Given the description of an element on the screen output the (x, y) to click on. 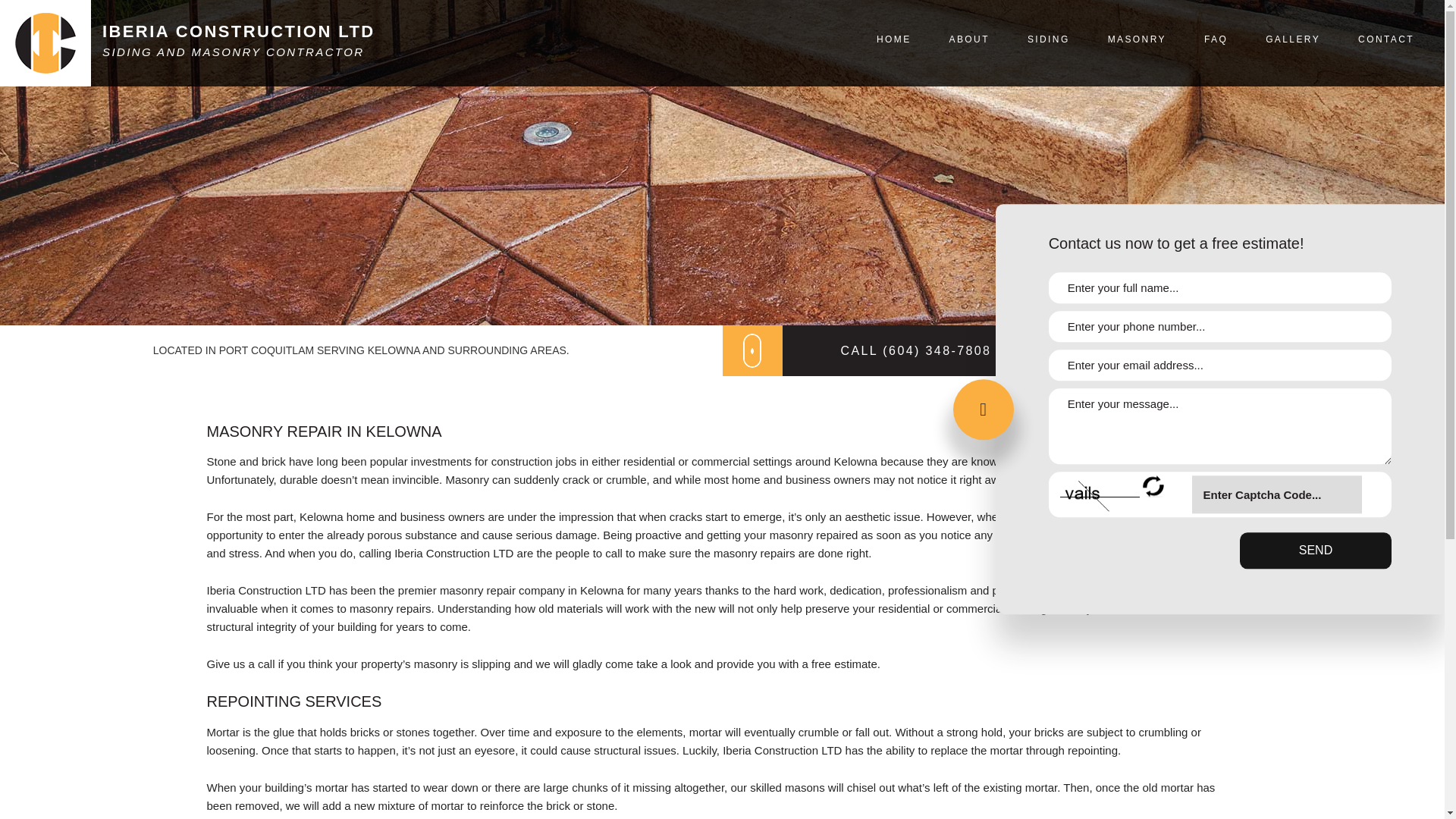
RETAINING WALLS (1136, 159)
MASONRY (1137, 39)
Phone Number (1219, 327)
HOME (893, 39)
MASONRY CONSTRUCTION (1136, 113)
Enter Captcha (1276, 494)
GALLERY (1292, 39)
Enter your message (1219, 427)
SERVICE AREAS (969, 113)
SIDING SERVICE (1048, 113)
CONTACT (1385, 39)
ABOUT (969, 39)
Home (238, 31)
MASONRY RESTORATION (1136, 136)
IBERIA CONSTRUCTION LTD (238, 31)
